Given the description of an element on the screen output the (x, y) to click on. 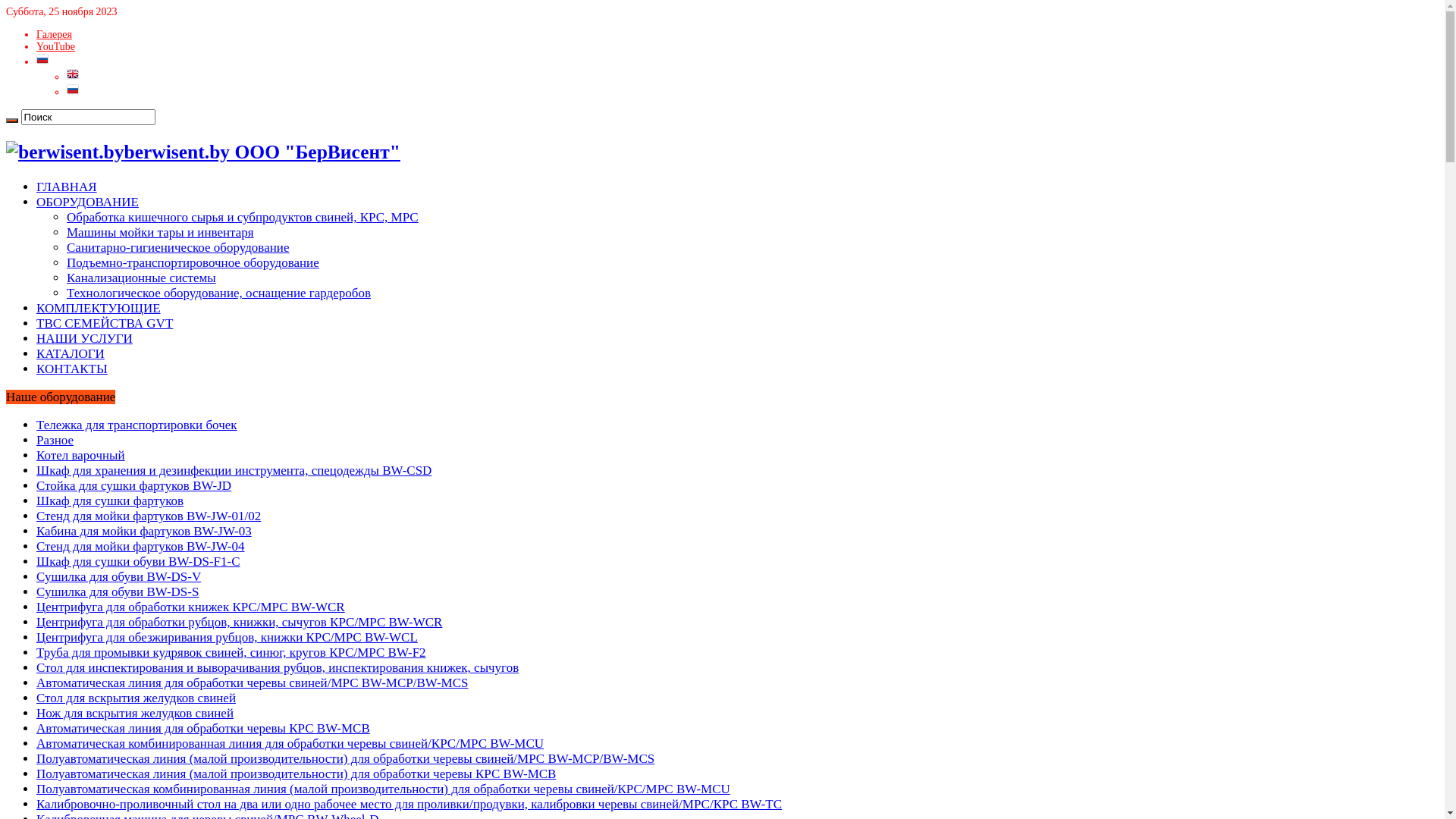
English Element type: hover (72, 76)
YouTube Element type: text (55, 46)
